Given the description of an element on the screen output the (x, y) to click on. 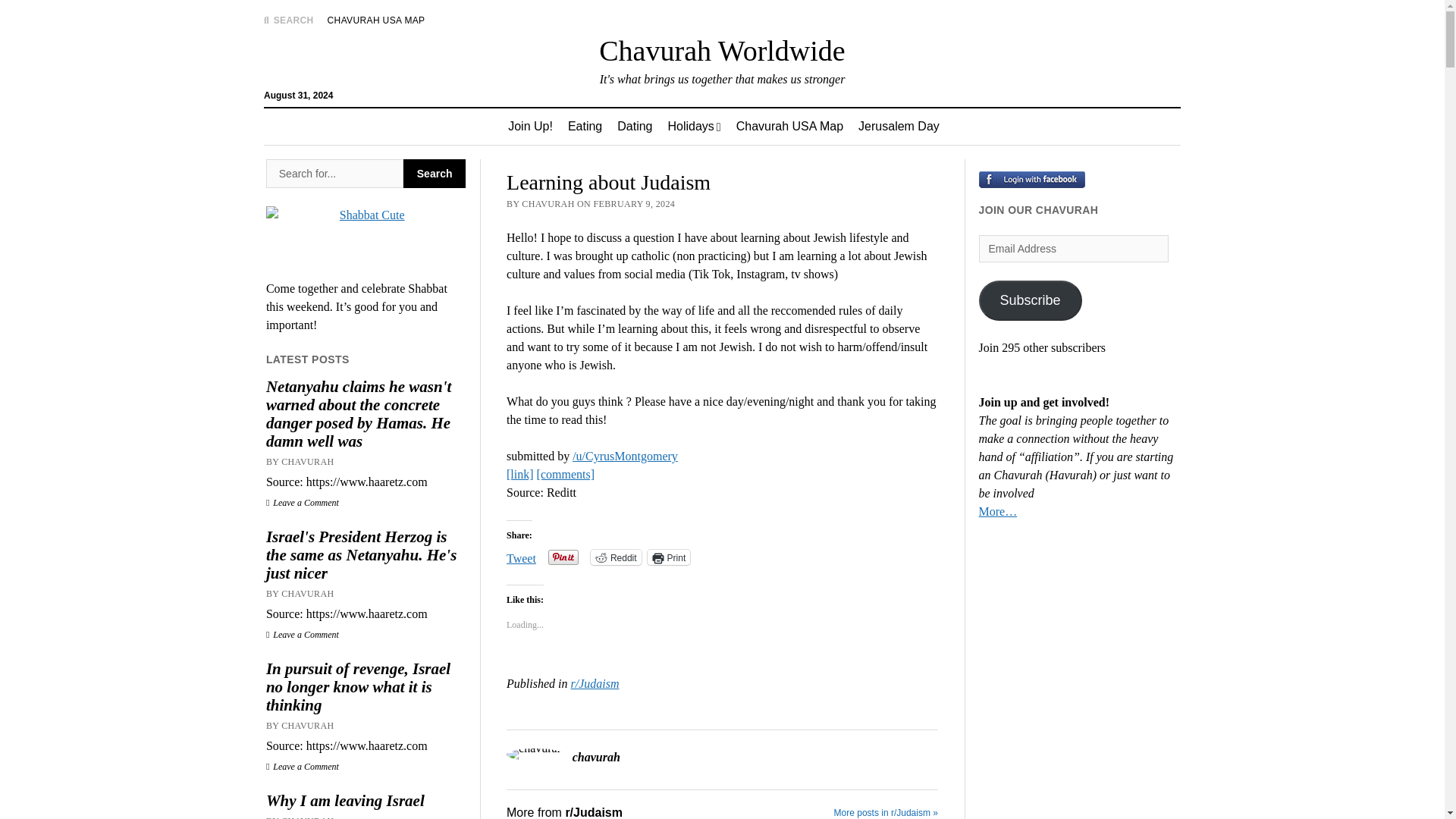
CHAVURAH USA MAP (376, 20)
Chavurah Worldwide (721, 50)
Jerusalem Day (898, 126)
Search (434, 173)
Search (434, 173)
Eating (585, 126)
Leave a Comment (302, 766)
Click to print (668, 557)
Chavurah USA Map (788, 126)
SEARCH (288, 20)
